Given the description of an element on the screen output the (x, y) to click on. 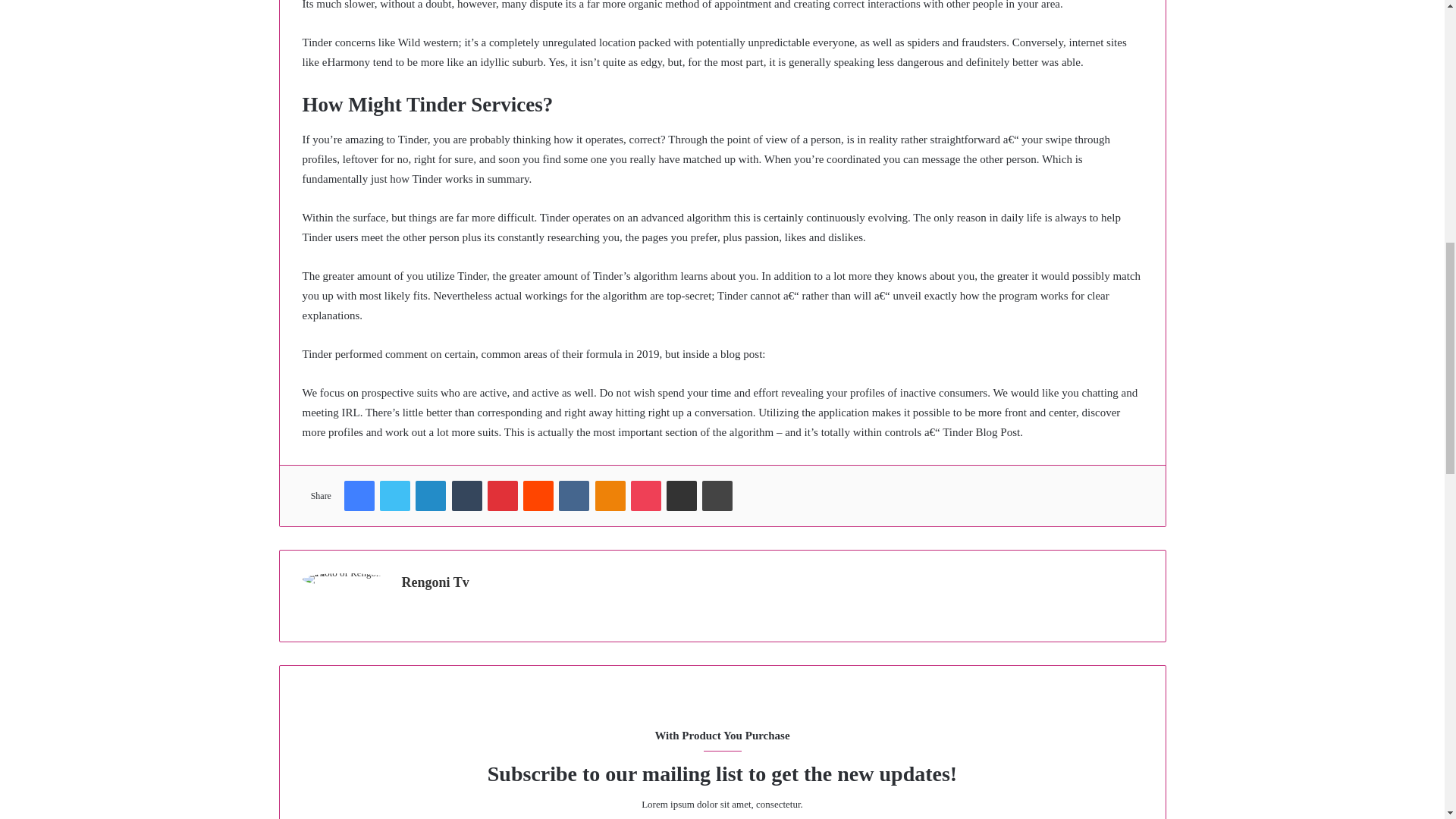
Pinterest (502, 495)
Twitter (395, 495)
Tumblr (466, 495)
Facebook (358, 495)
LinkedIn (429, 495)
